Given the description of an element on the screen output the (x, y) to click on. 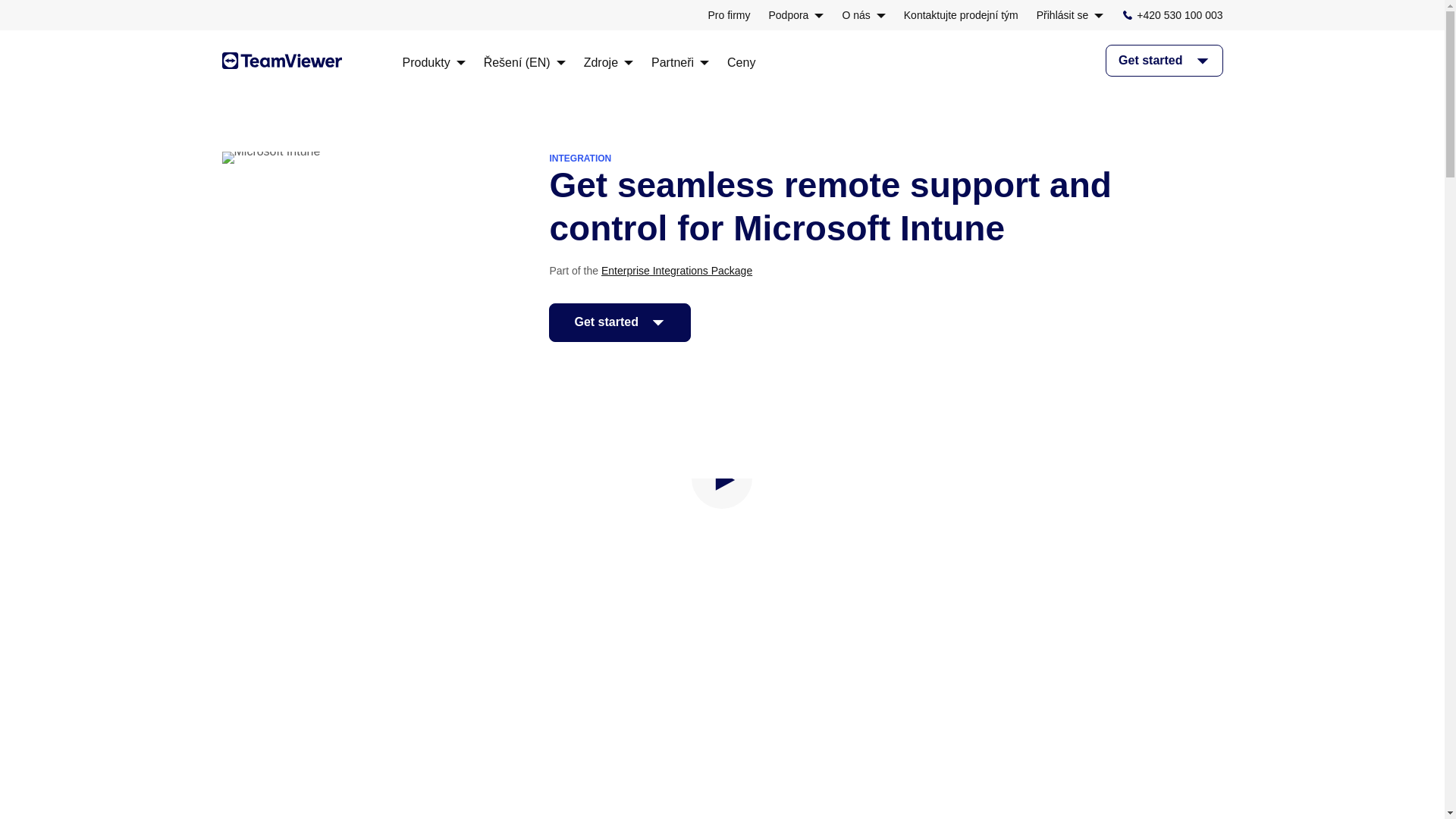
Podpora (796, 15)
Get started (619, 322)
Produkty (432, 62)
Pro firmy (728, 15)
